Given the description of an element on the screen output the (x, y) to click on. 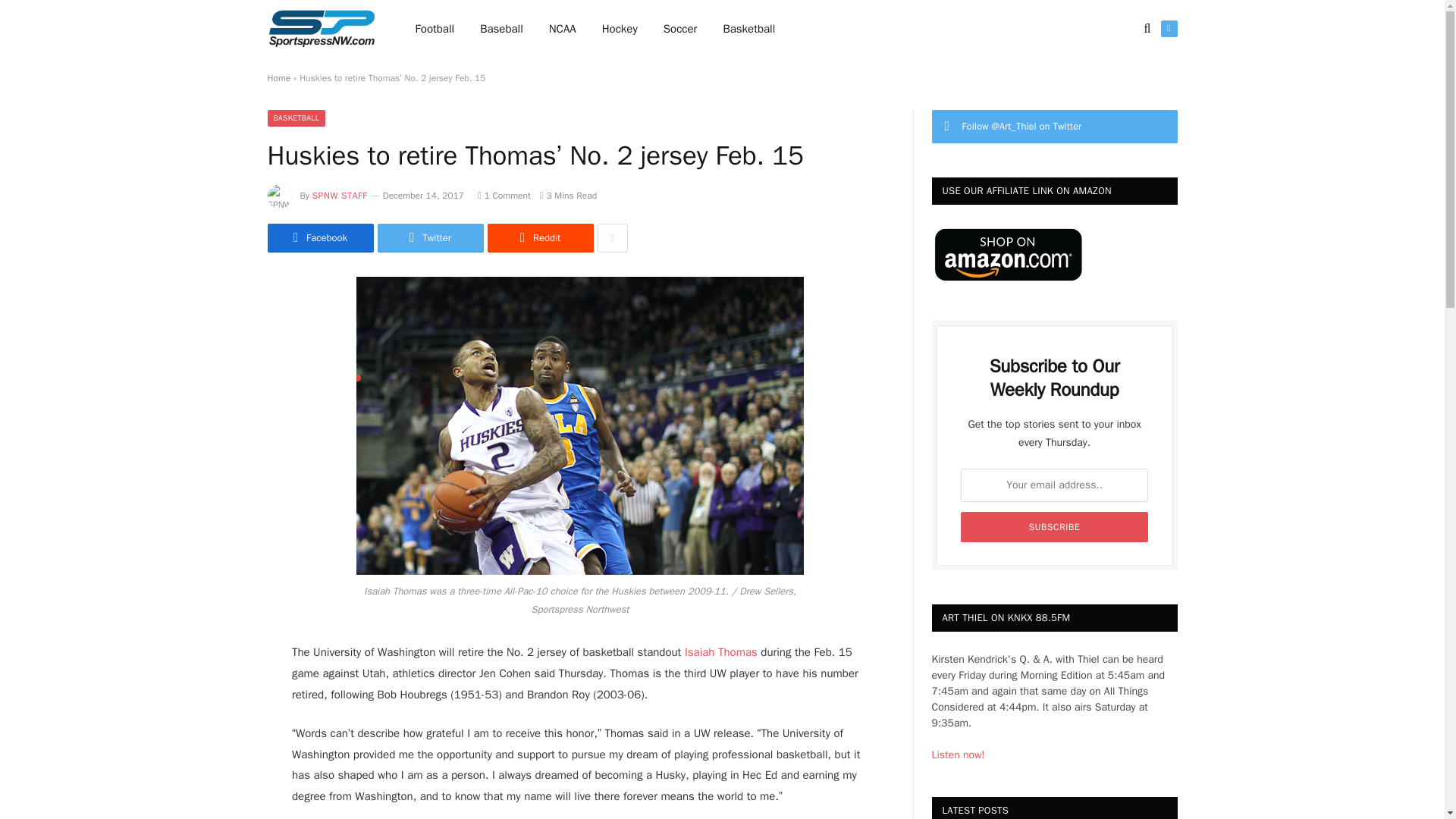
Share on Twitter (319, 237)
Basketball (748, 28)
Sportspress Northwest (320, 28)
Hockey (619, 28)
Home (277, 78)
Subscribe (1053, 526)
Twitter (1168, 28)
SPNW STAFF (340, 195)
Posts by SPNW Staff (340, 195)
Show More Social Sharing (611, 237)
